Given the description of an element on the screen output the (x, y) to click on. 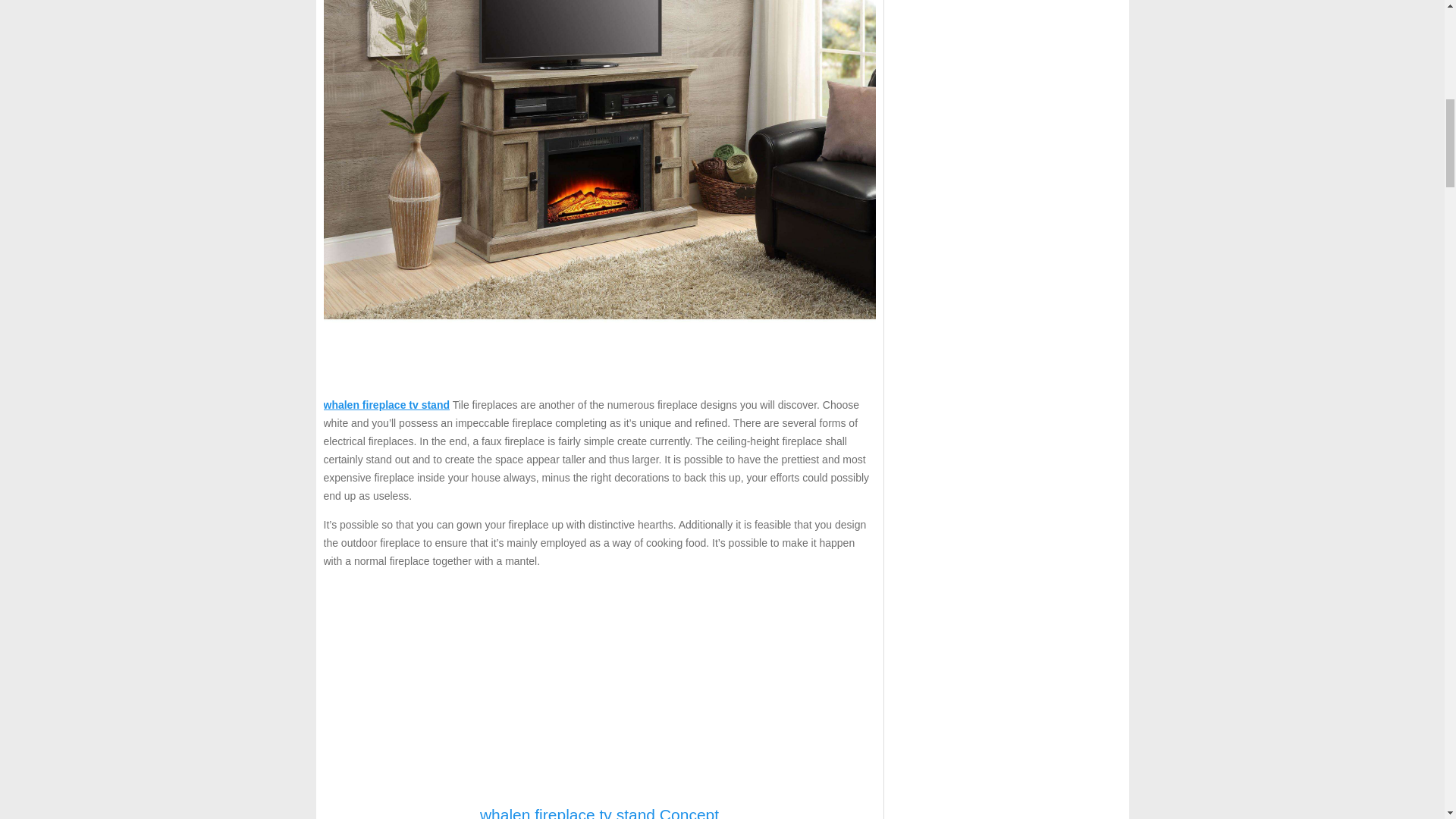
whalen fireplace tv stand (386, 404)
whalen fireplace tv stand (386, 404)
Advertisement (599, 686)
